Given the description of an element on the screen output the (x, y) to click on. 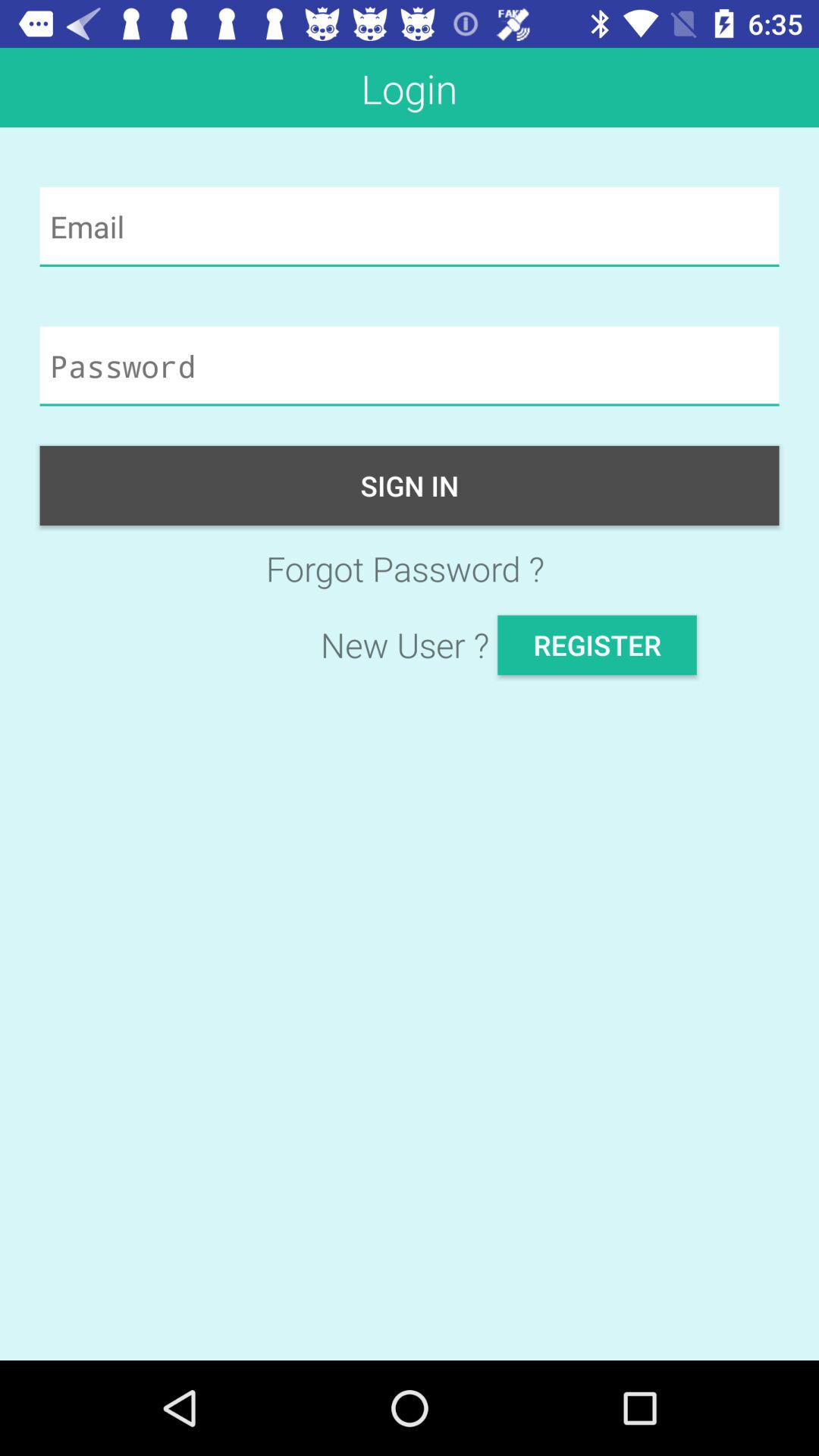
turn on icon below the sign in item (409, 568)
